Given the description of an element on the screen output the (x, y) to click on. 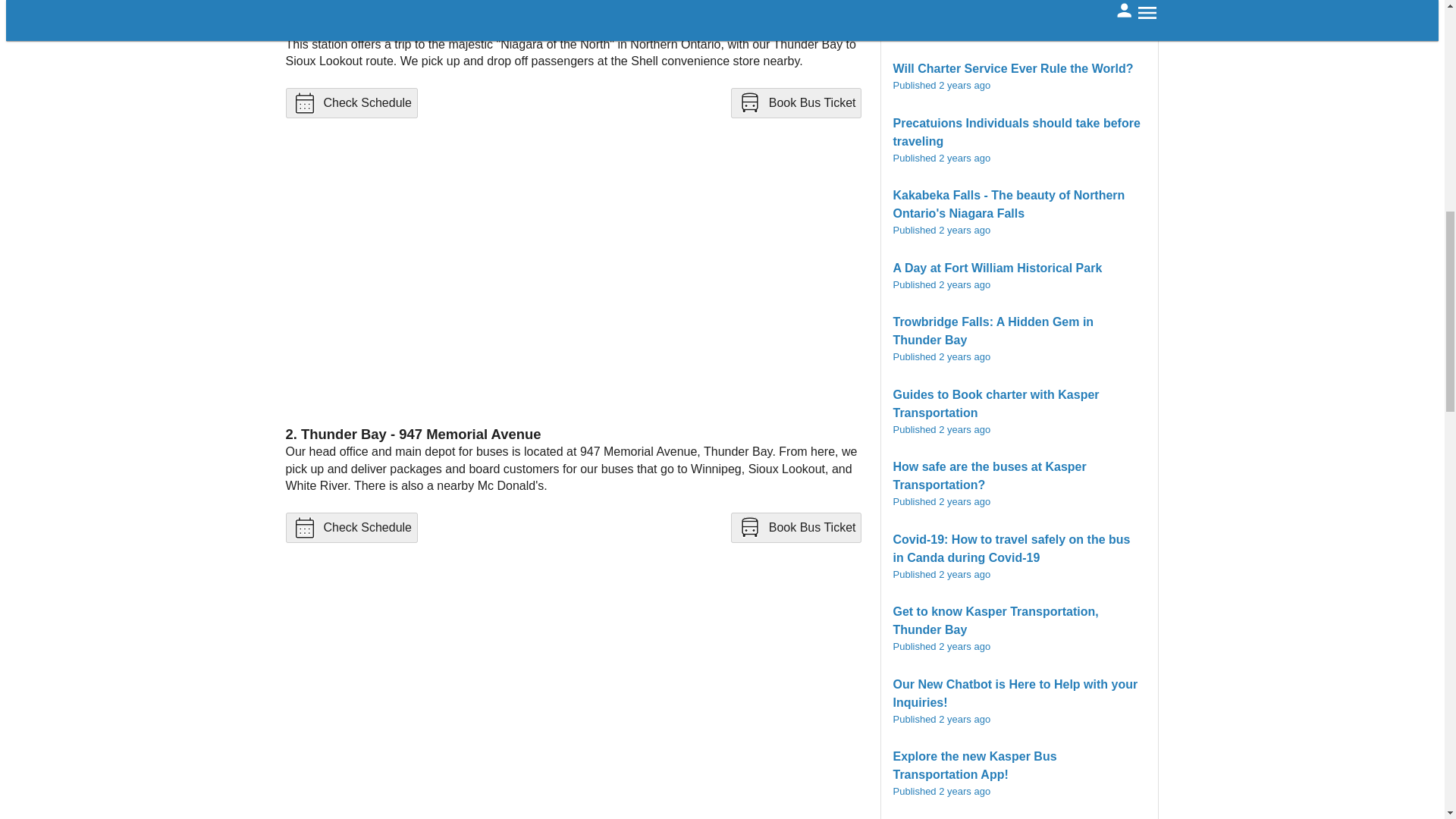
Book Bus Ticket (795, 102)
Check Schedule (351, 102)
Check Schedule (351, 527)
Book Bus Ticket (795, 527)
Book Bus Ticket (795, 102)
Book Bus Ticket (795, 527)
Check Schedule (351, 102)
